Given the description of an element on the screen output the (x, y) to click on. 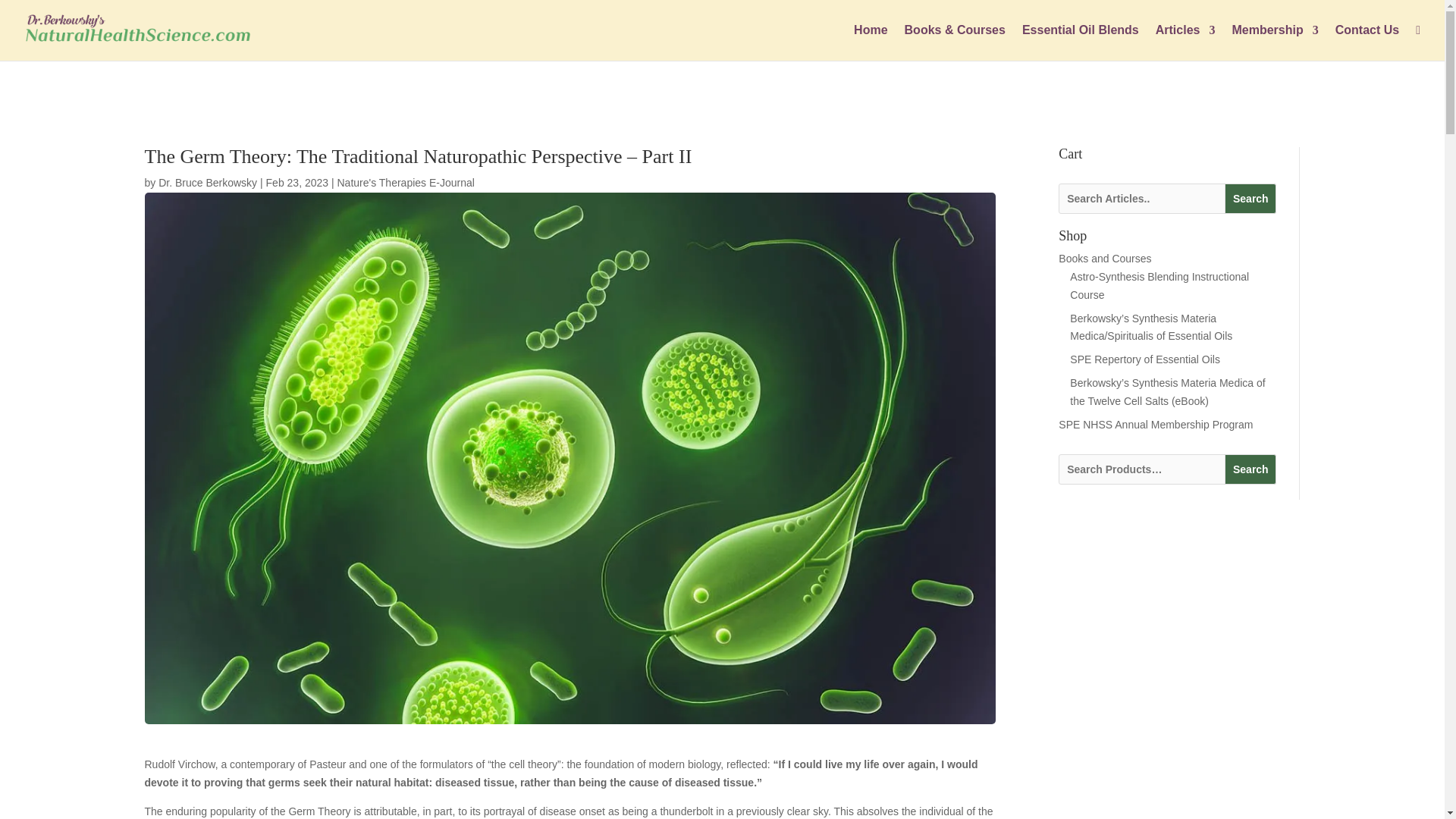
SPE Repertory of Essential Oils (1145, 358)
Essential Oil Blends (1080, 42)
Books and Courses (1104, 258)
Posts by Dr. Bruce Berkowsky (207, 182)
Search (1250, 469)
Astro-Synthesis Blending Instructional Course (1159, 286)
Search (1250, 198)
Home (869, 42)
Articles (1185, 42)
Dr. Bruce Berkowsky (207, 182)
